Given the description of an element on the screen output the (x, y) to click on. 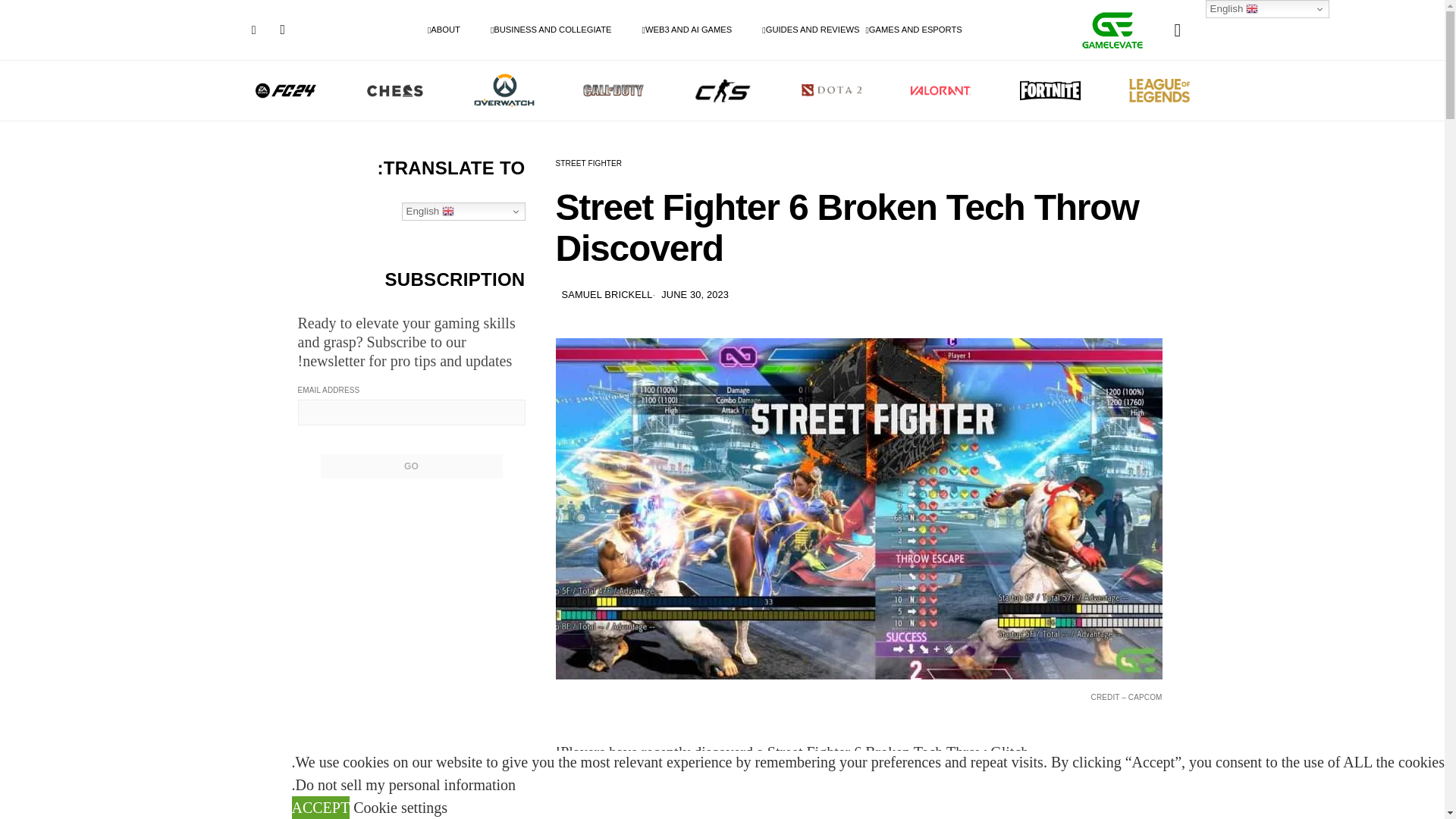
View all posts by Samuel Brickell (606, 294)
Go (411, 466)
